Given the description of an element on the screen output the (x, y) to click on. 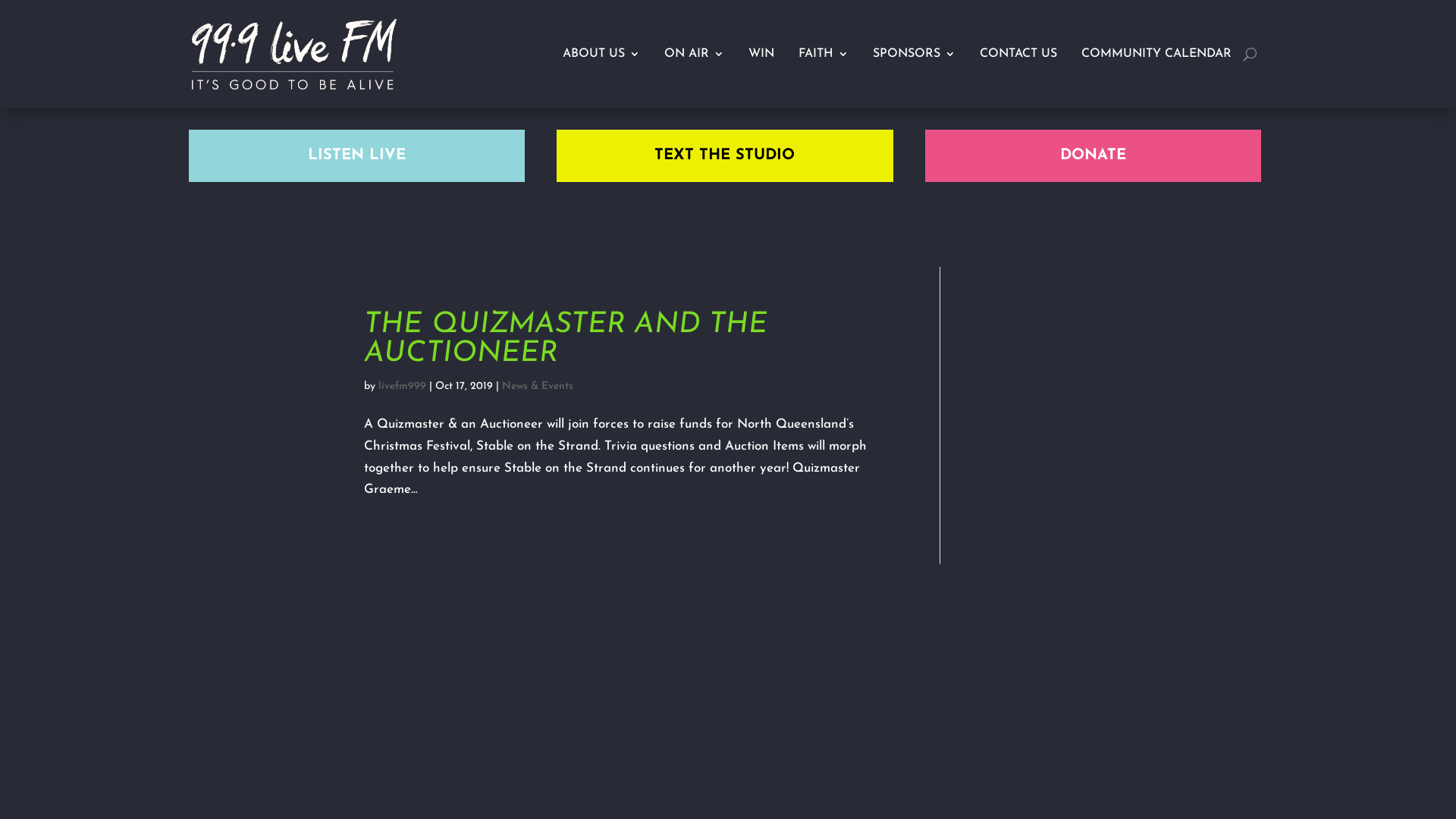
SPONSORS Element type: text (913, 53)
ABOUT US Element type: text (601, 53)
THE QUIZMASTER AND THE AUCTIONEER Element type: text (565, 339)
News & Events Element type: text (537, 386)
livefm999 Element type: text (402, 386)
WIN Element type: text (760, 53)
ON AIR Element type: text (694, 53)
CONTACT US Element type: text (1018, 53)
FAITH Element type: text (822, 53)
COMMUNITY CALENDAR Element type: text (1156, 53)
